Given the description of an element on the screen output the (x, y) to click on. 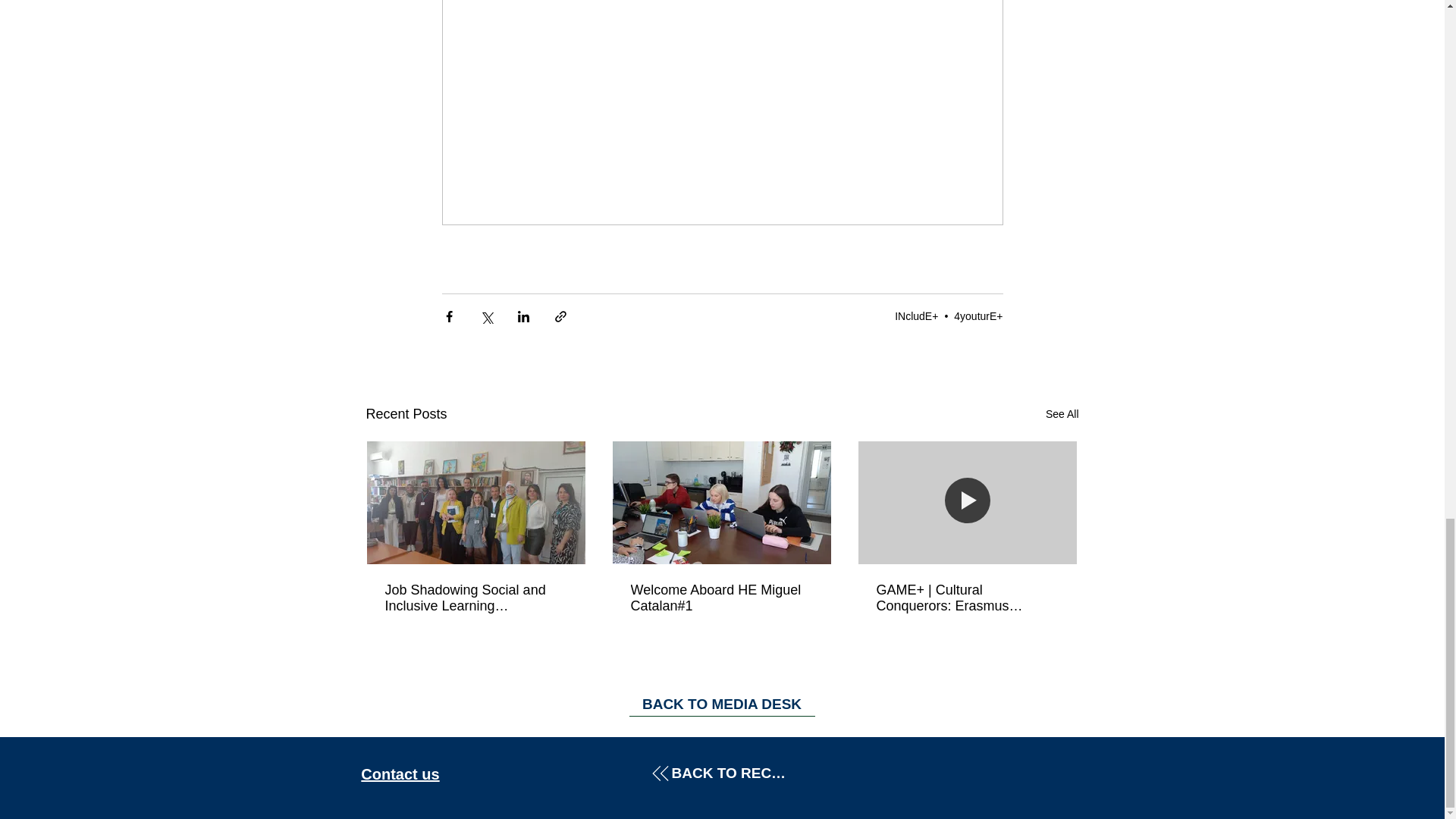
BACK TO MEDIA DESK (721, 704)
Contact us (400, 773)
BACK TO RECEPTION (721, 773)
See All (1061, 414)
